Given the description of an element on the screen output the (x, y) to click on. 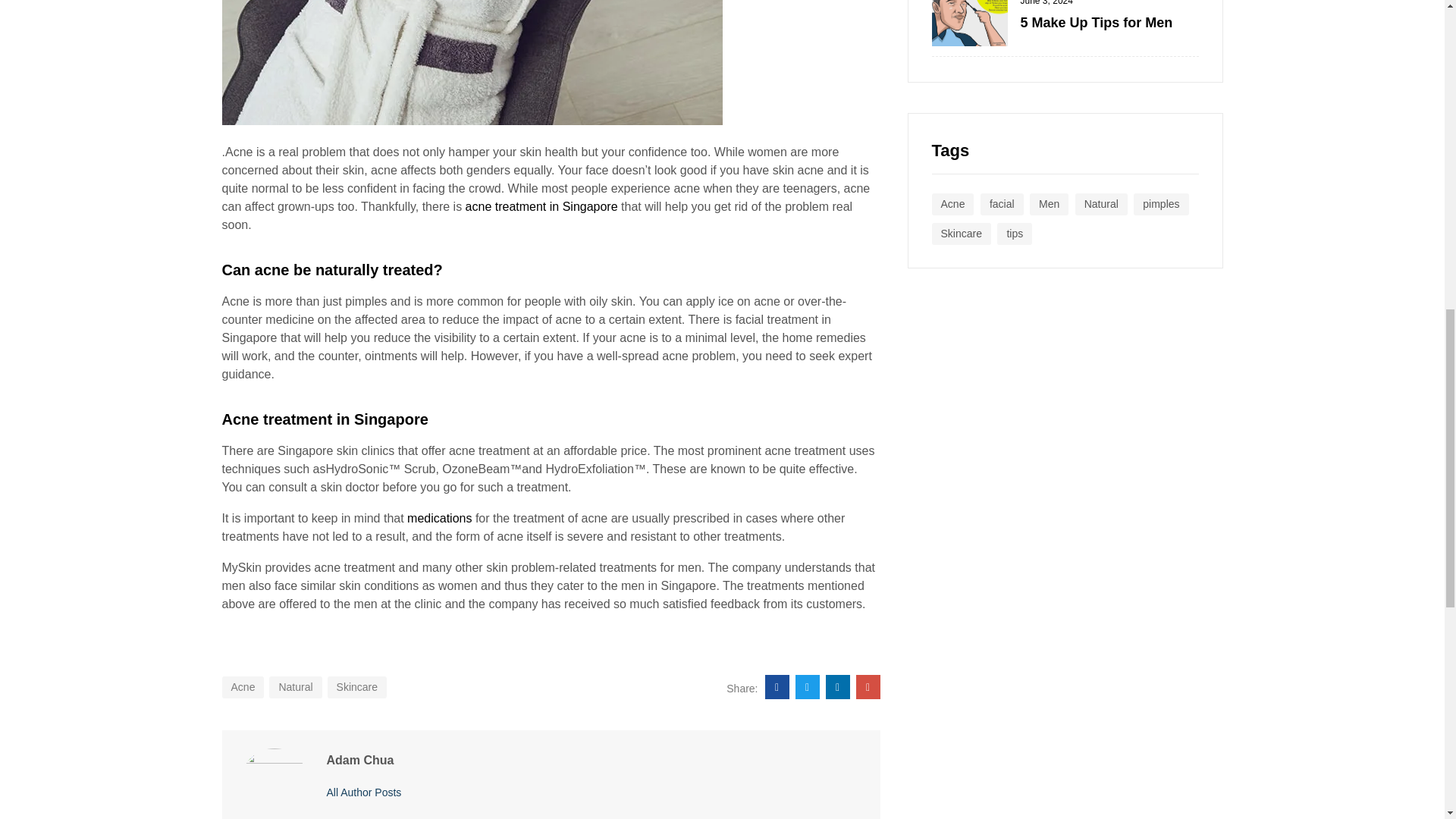
Adam Chua (363, 792)
Acne Treatment in Singapore: Does Natural Remedy Work? (777, 686)
Acne Treatment in Singapore: Does Natural Remedy Work? (868, 686)
